Given the description of an element on the screen output the (x, y) to click on. 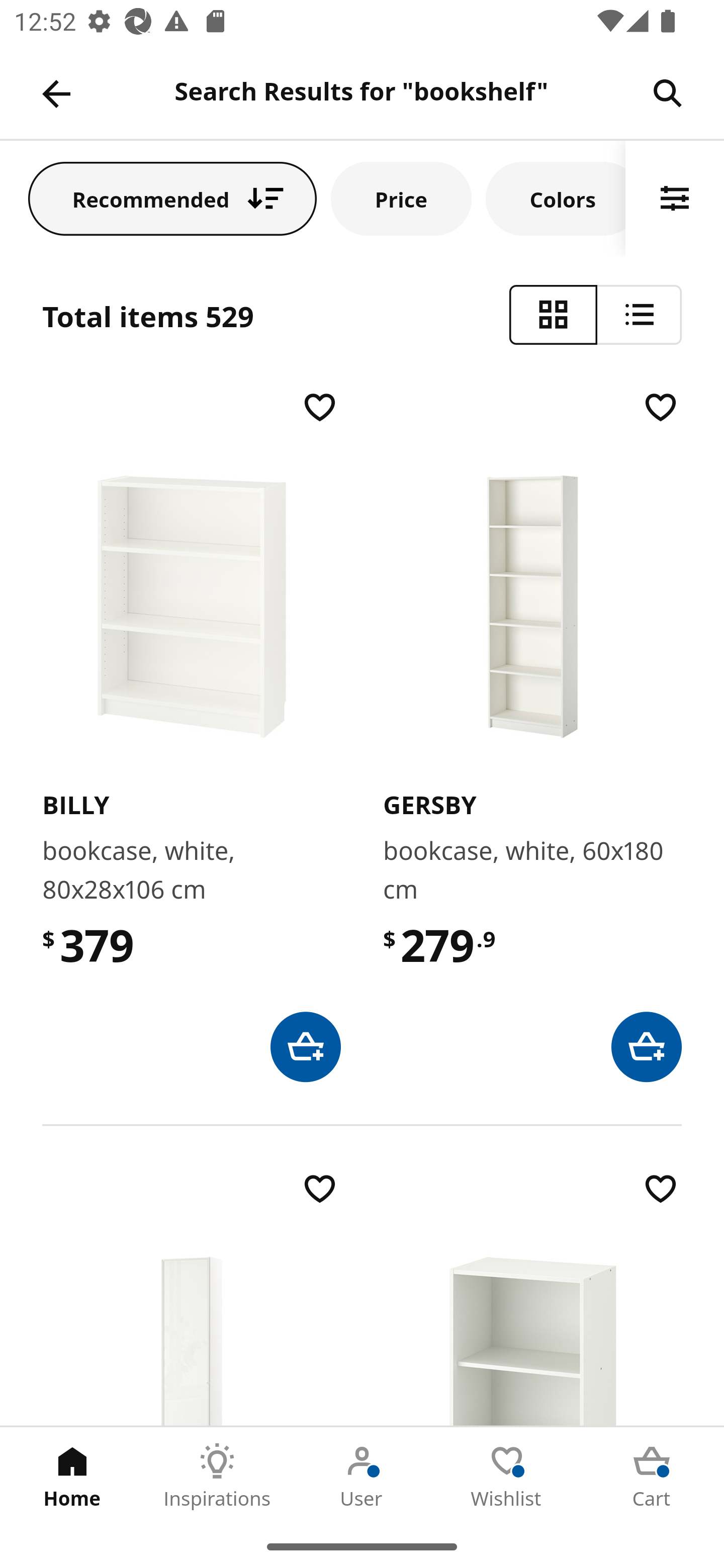
Recommended (172, 198)
Price (400, 198)
Colors (555, 198)
​B​I​L​L​Y​
bookcase, white, 80x28x106 cm
$
379 (191, 734)
​G​E​R​S​B​Y​
bookcase, white, 60x180 cm
$
279
.9 (532, 734)
Home
Tab 1 of 5 (72, 1476)
Inspirations
Tab 2 of 5 (216, 1476)
User
Tab 3 of 5 (361, 1476)
Wishlist
Tab 4 of 5 (506, 1476)
Cart
Tab 5 of 5 (651, 1476)
